Given the description of an element on the screen output the (x, y) to click on. 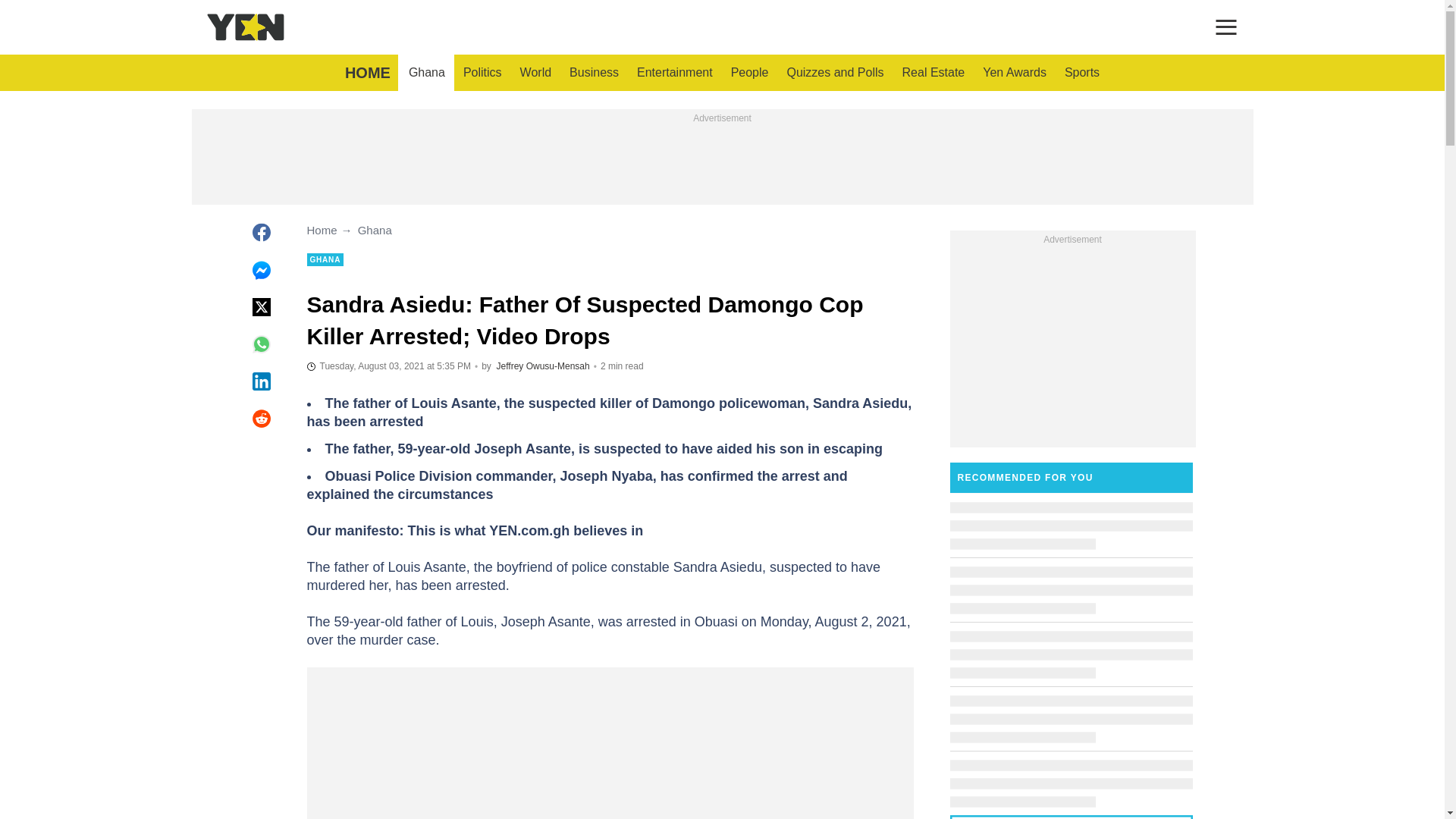
World (535, 72)
Real Estate (933, 72)
People (749, 72)
Sports (1081, 72)
Author page (542, 366)
Business (593, 72)
2021-08-03T17:35:37Z (387, 366)
Politics (482, 72)
Yen Awards (1014, 72)
Quizzes and Polls (834, 72)
HOME (367, 72)
Entertainment (674, 72)
Ghana (426, 72)
